Given the description of an element on the screen output the (x, y) to click on. 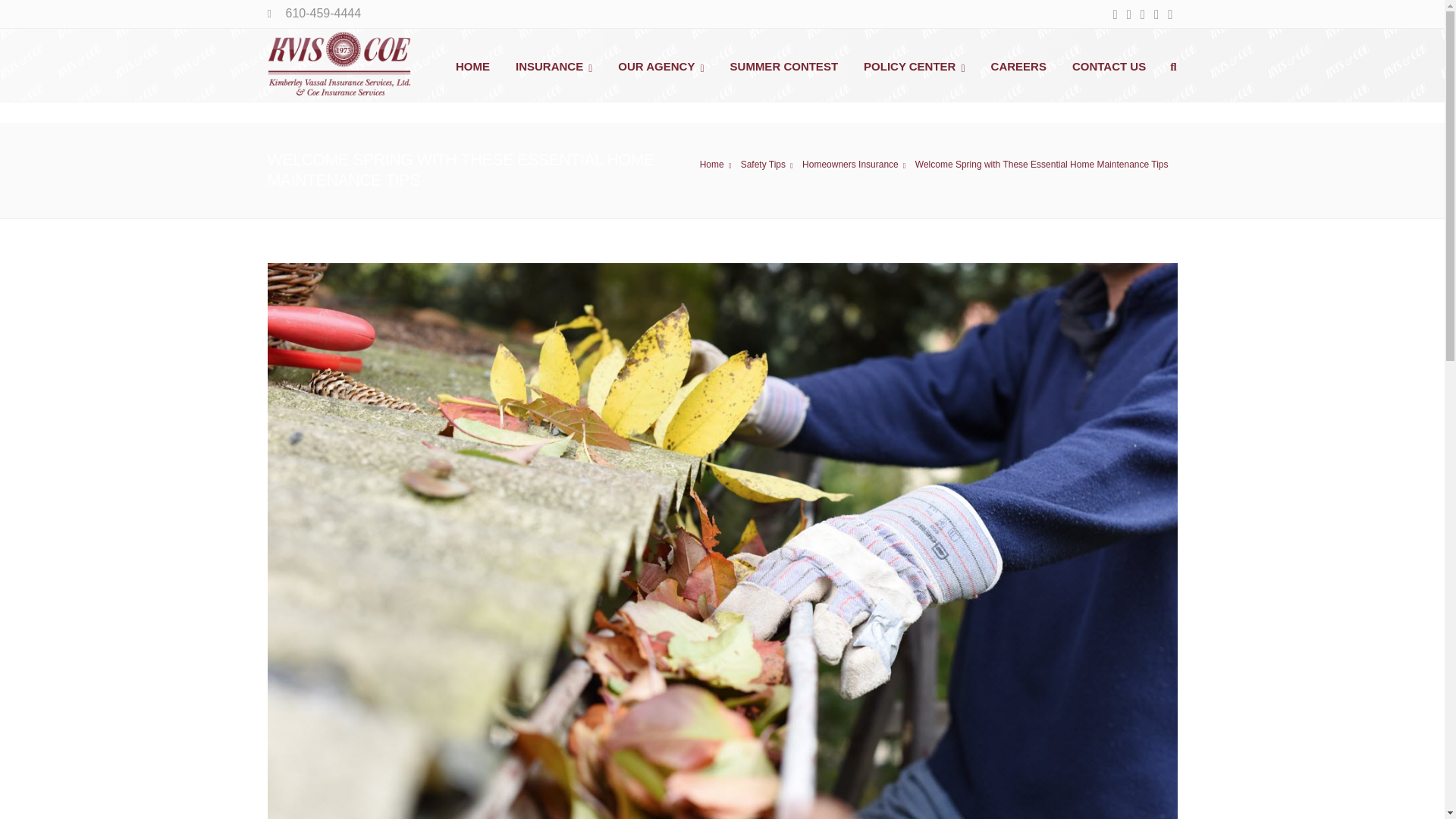
INSURANCE (553, 64)
Twitter (1128, 15)
Opens a widget where you can chat to one of our agents (1386, 792)
YouTube (1142, 15)
Facebook (1114, 15)
Welcome Spring with These Essential Home Maintenance Tips (856, 164)
OUR AGENCY (660, 64)
Welcome Spring with These Essential Home Maintenance Tips (1044, 164)
CONTACT US (1108, 64)
Welcome Spring with These Essential Home Maintenance Tips (769, 164)
Instagram (1169, 15)
CAREERS (1018, 64)
POLICY CENTER (914, 64)
SUMMER CONTEST (784, 64)
